Given the description of an element on the screen output the (x, y) to click on. 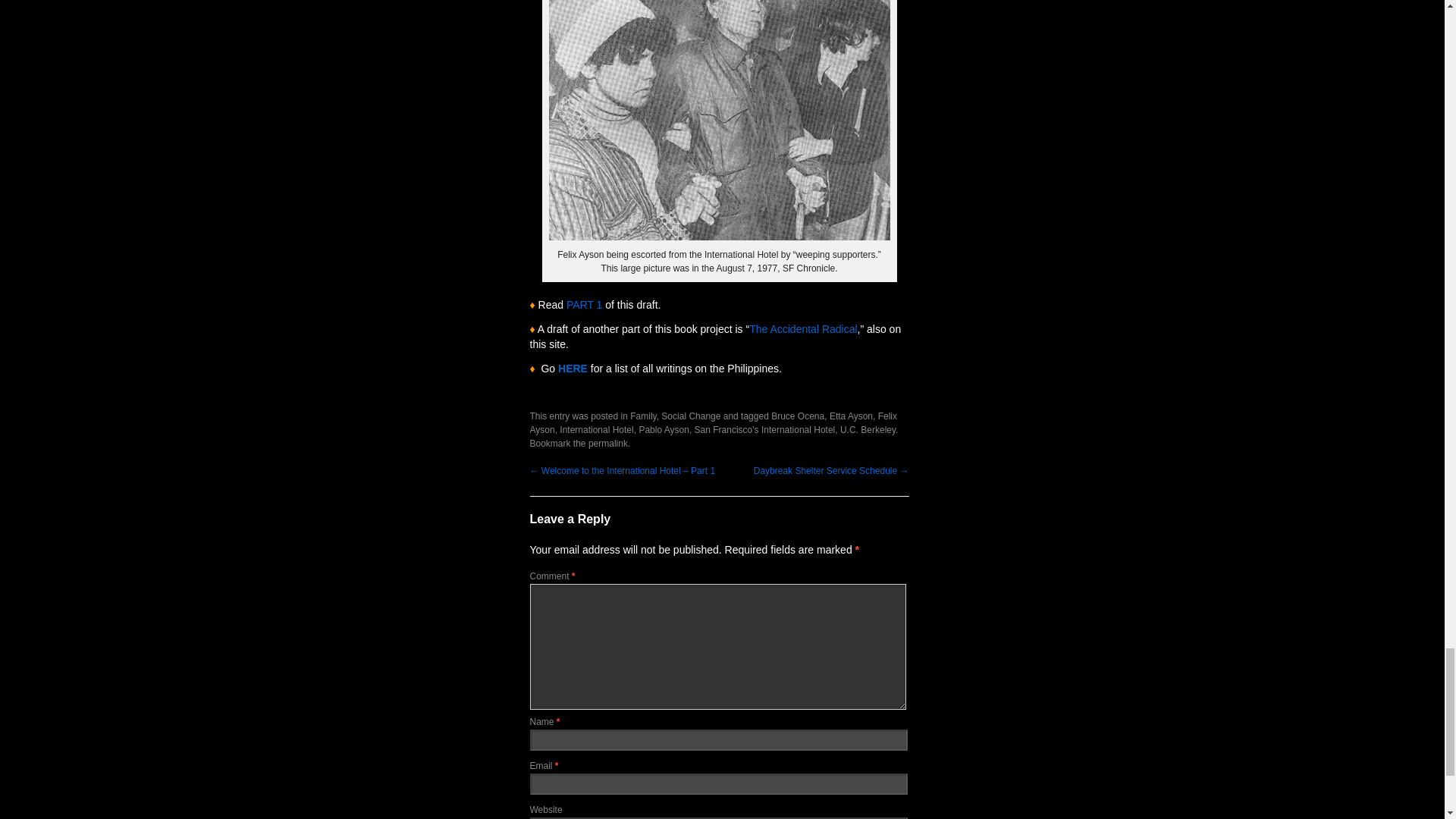
Welcome to the International Hotel - Part 1 (584, 304)
The Accidental Radical (803, 328)
Writing About the Philippines (572, 368)
